Given the description of an element on the screen output the (x, y) to click on. 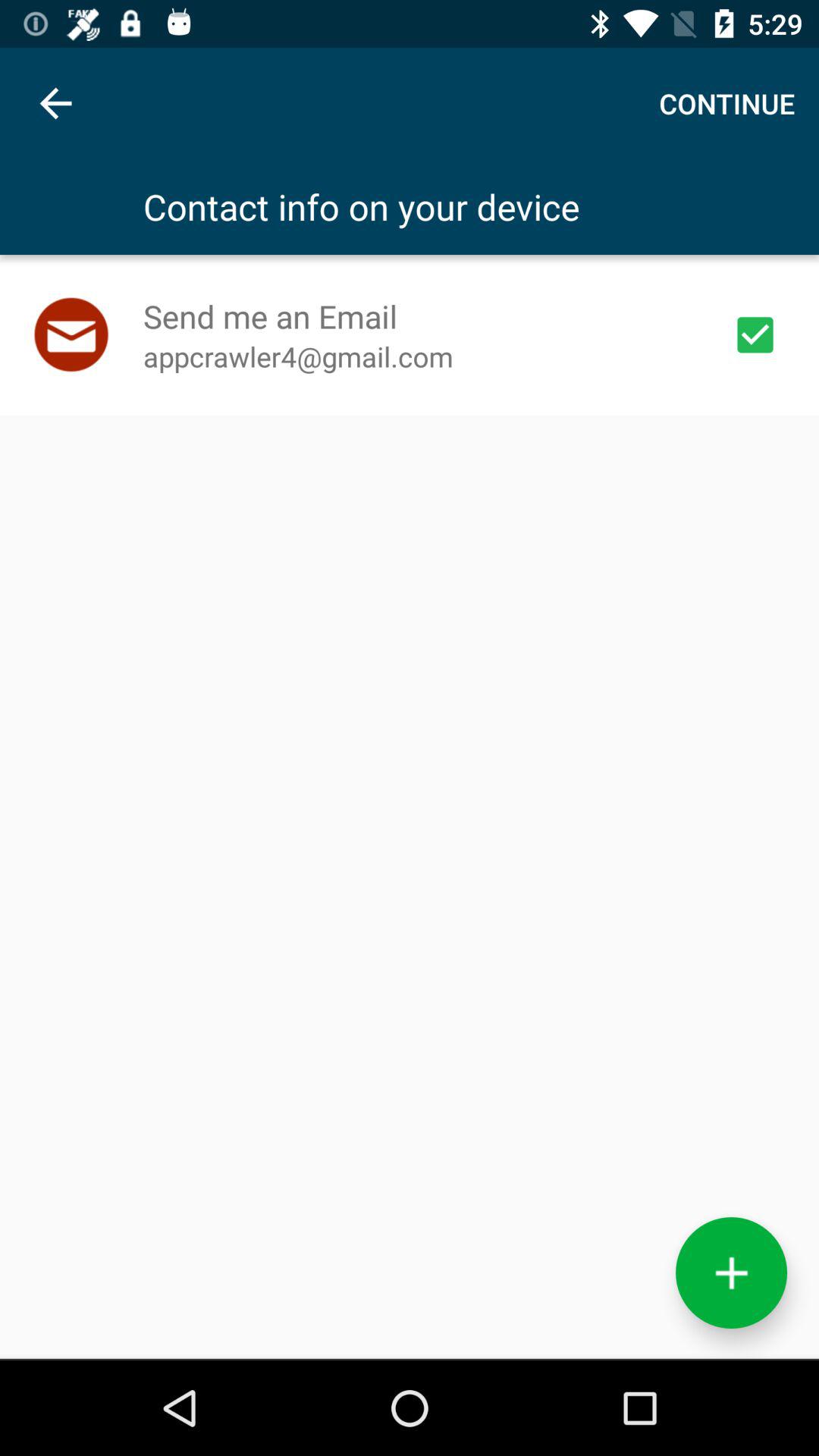
turn off item next to send me an item (755, 334)
